Given the description of an element on the screen output the (x, y) to click on. 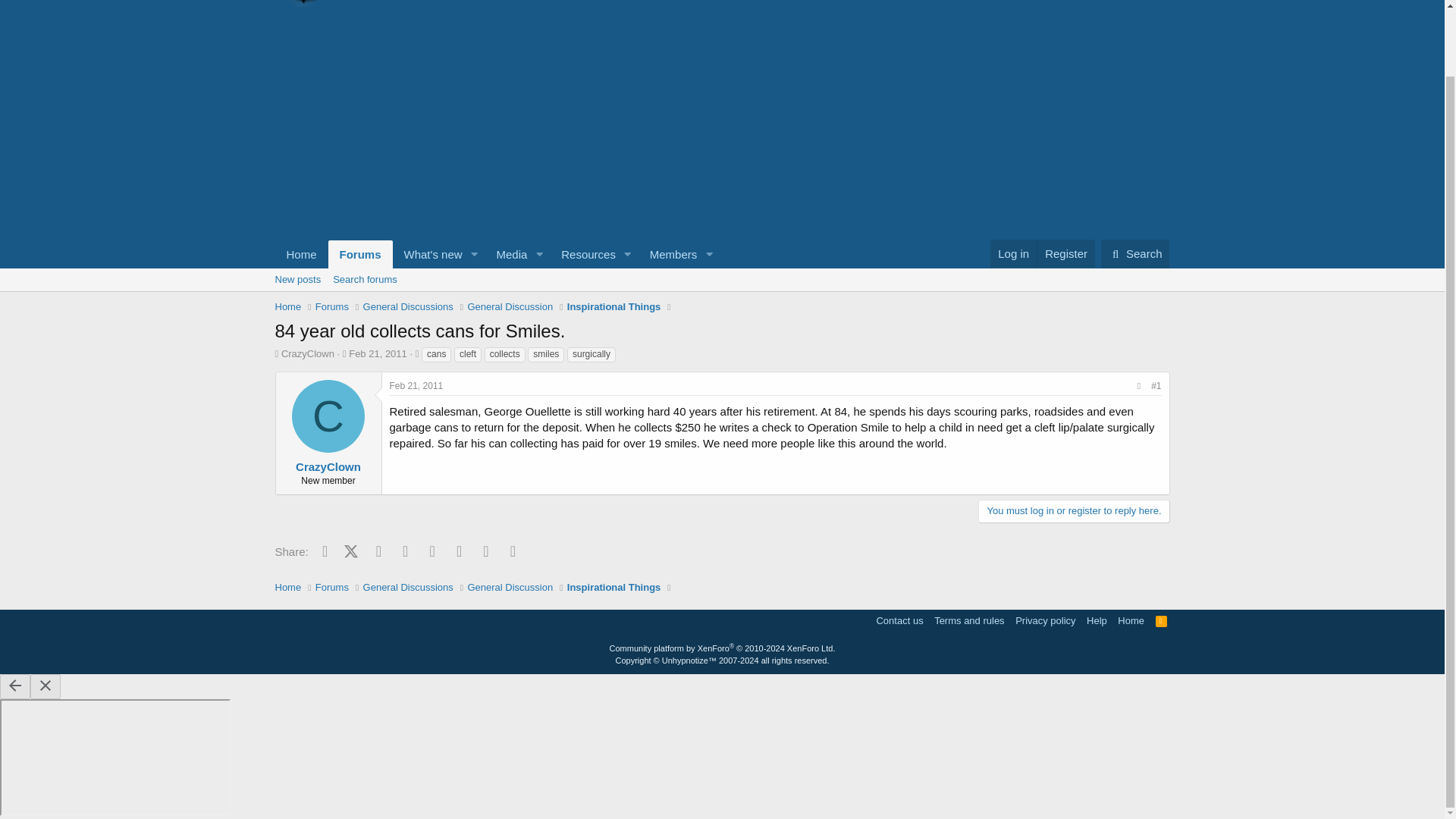
Feb 21, 2011 at 6:48 PM (378, 353)
Members (668, 254)
Search (1135, 253)
Media (506, 254)
RSS (720, 296)
Feb 21, 2011 at 6:48 PM (1161, 620)
What's new (417, 385)
Log in (496, 254)
Home (428, 254)
Forums (1013, 253)
Register (301, 254)
Resources (361, 254)
